Given the description of an element on the screen output the (x, y) to click on. 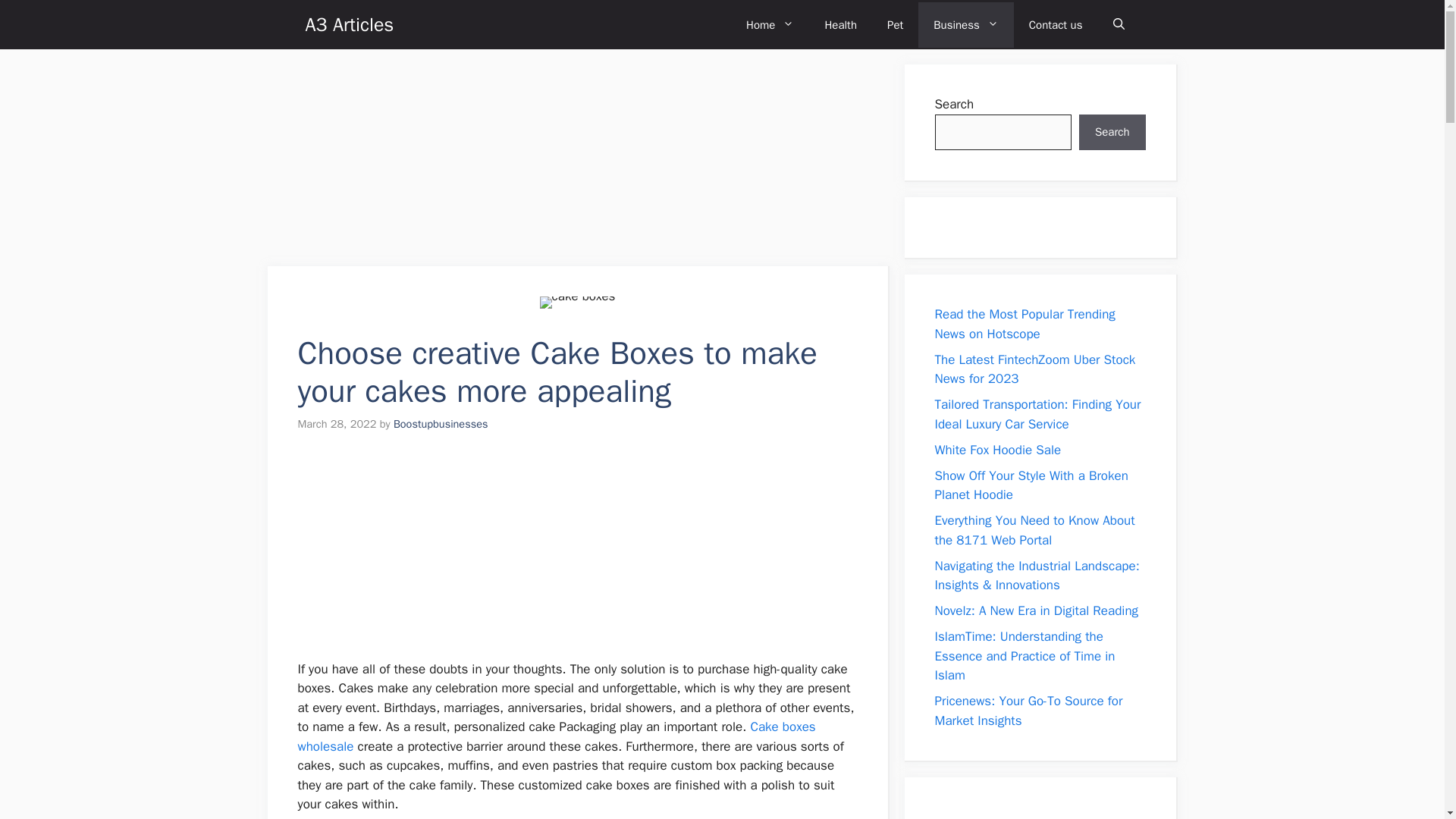
Cake boxes wholesale (556, 736)
Read the Most Popular Trending News on Hotscope (1024, 324)
Show Off Your Style With a Broken Planet Hoodie (1030, 484)
Advertisement (380, 158)
Novelz: A New Era in Digital Reading (1036, 610)
A3 Articles (348, 24)
Business (965, 23)
Contact us (1055, 23)
Health (840, 23)
Boostupbusinesses (440, 423)
The Latest FintechZoom Uber Stock News for 2023 (1034, 369)
Pricenews: Your Go-To Source for Market Insights (1028, 710)
Advertisement (1047, 813)
